Given the description of an element on the screen output the (x, y) to click on. 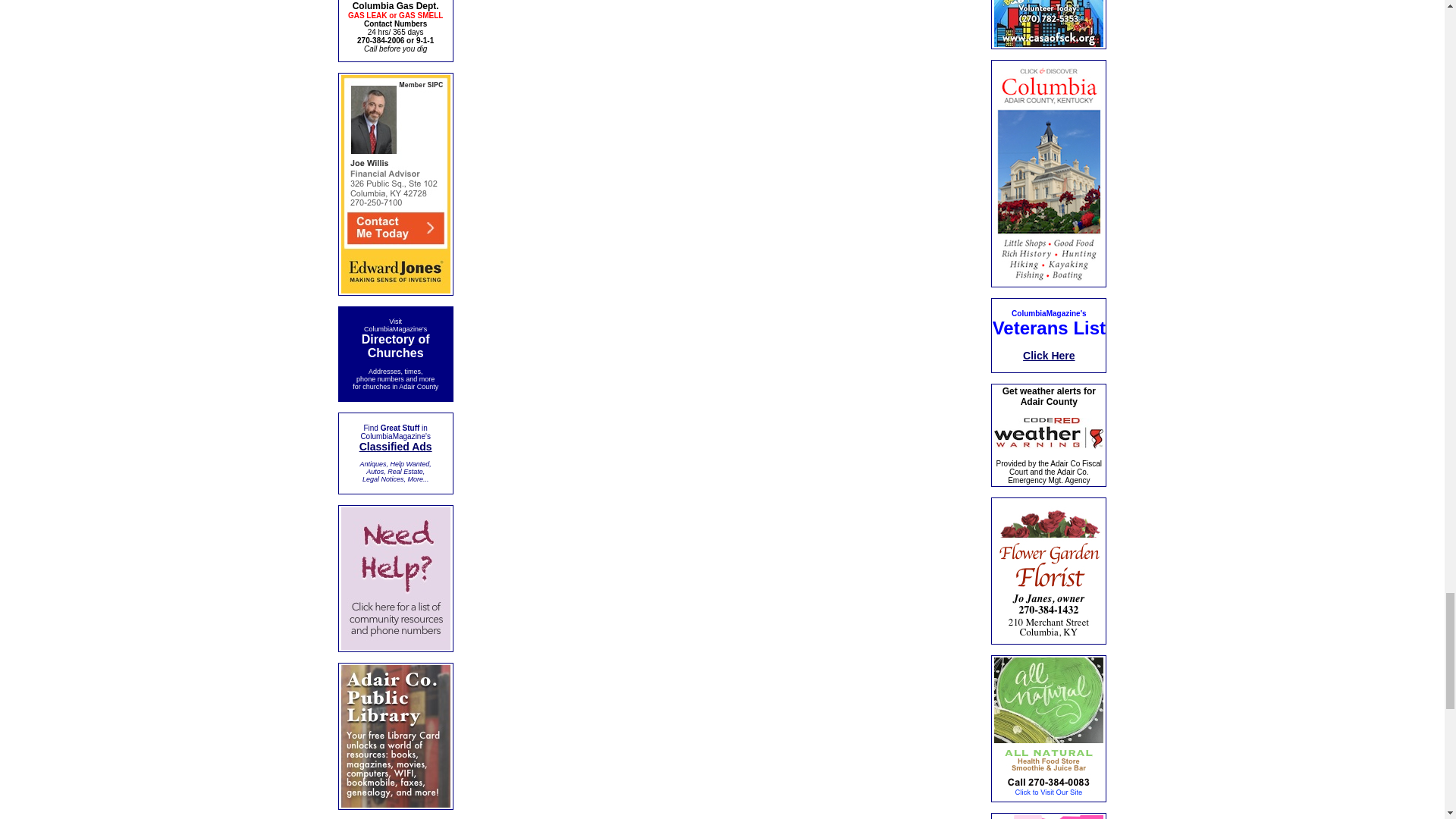
Classified Ads (395, 447)
Directory of Churches (395, 346)
